Given the description of an element on the screen output the (x, y) to click on. 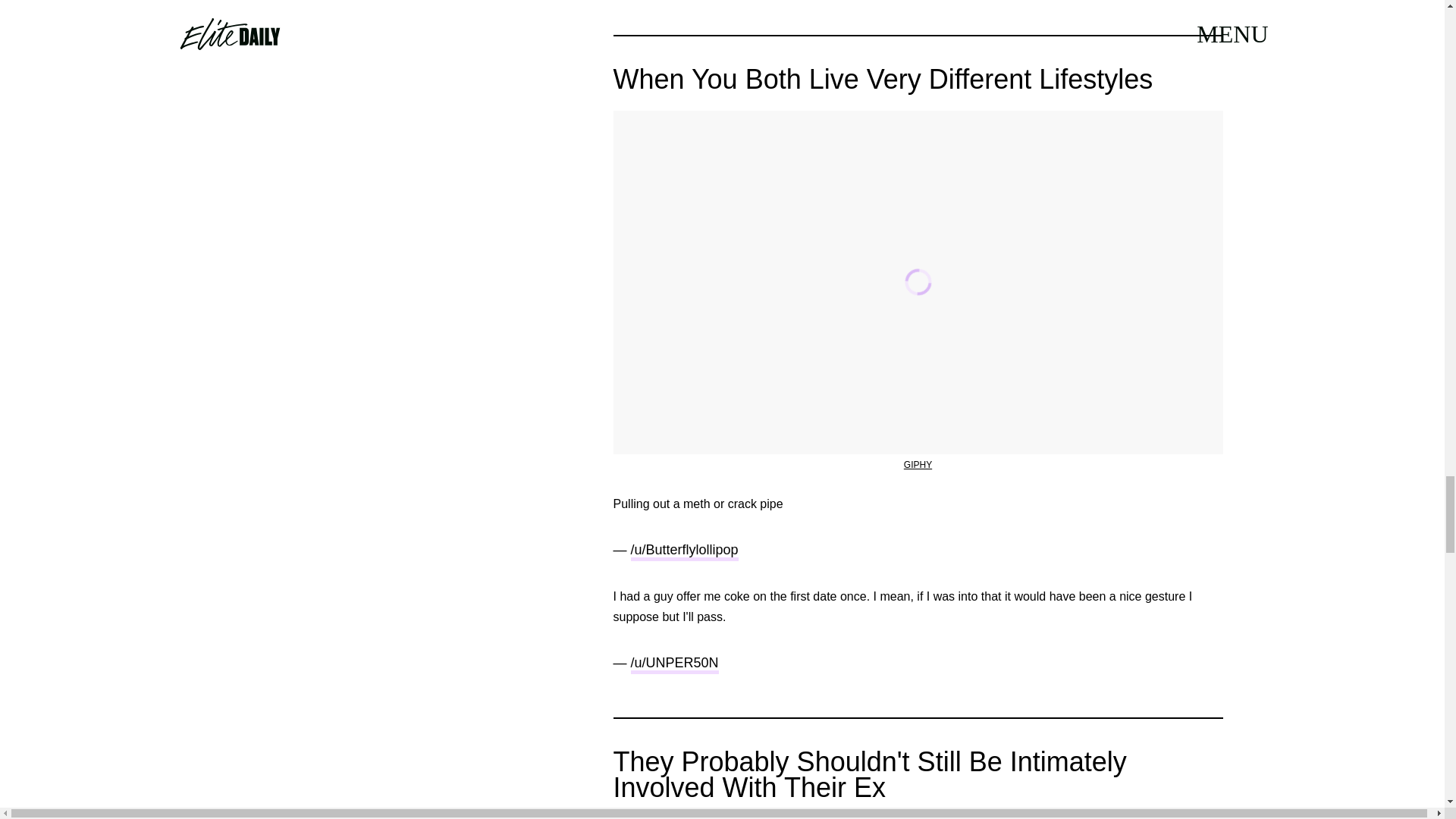
GIPHY (917, 464)
